Given the description of an element on the screen output the (x, y) to click on. 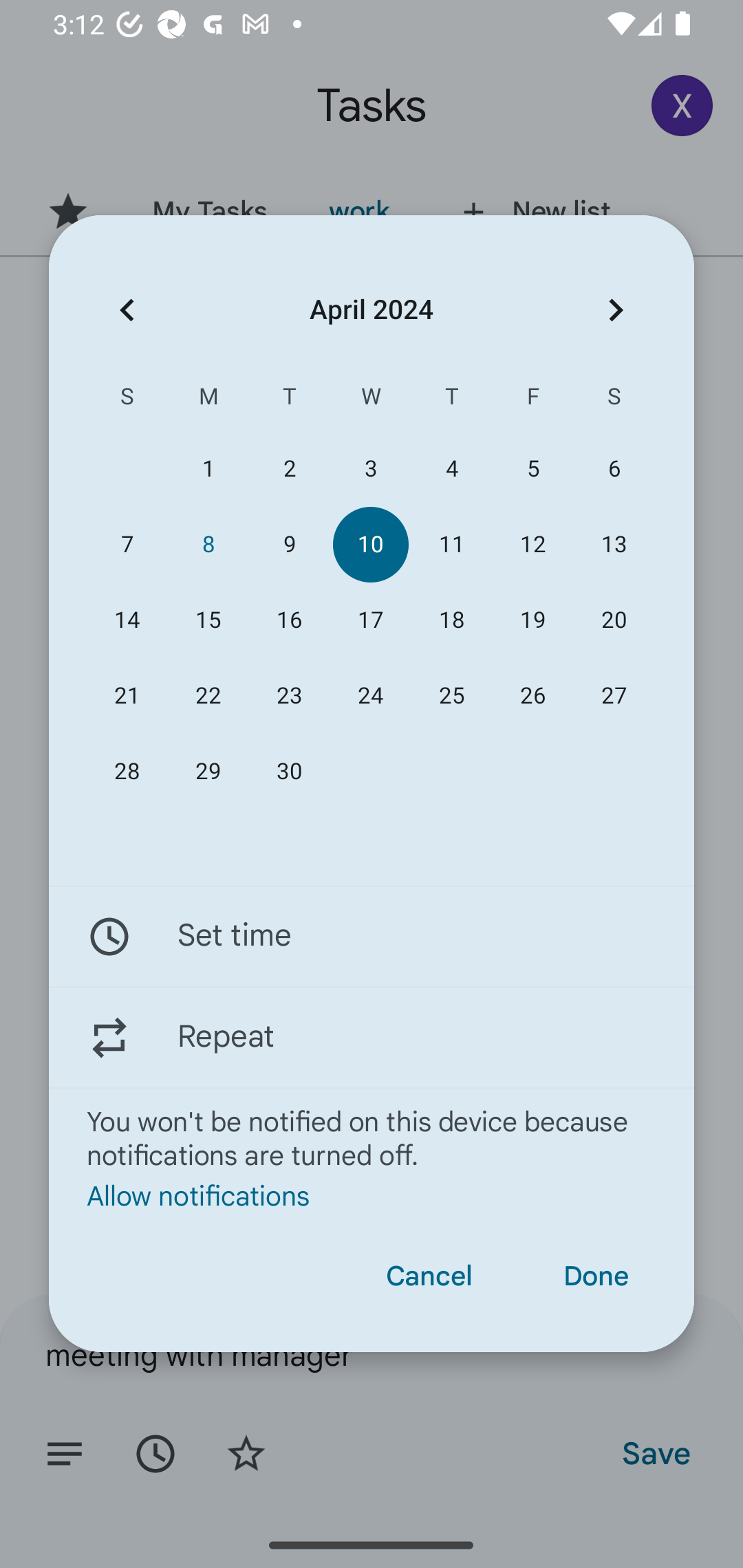
Previous month (126, 309)
Next month (615, 309)
1 01 April 2024 (207, 468)
2 02 April 2024 (288, 468)
3 03 April 2024 (370, 468)
4 04 April 2024 (451, 468)
5 05 April 2024 (532, 468)
6 06 April 2024 (613, 468)
7 07 April 2024 (126, 543)
8 08 April 2024 (207, 543)
9 09 April 2024 (288, 543)
10 10 April 2024 (370, 543)
11 11 April 2024 (451, 543)
12 12 April 2024 (532, 543)
13 13 April 2024 (613, 543)
14 14 April 2024 (126, 619)
15 15 April 2024 (207, 619)
16 16 April 2024 (288, 619)
17 17 April 2024 (370, 619)
18 18 April 2024 (451, 619)
19 19 April 2024 (532, 619)
20 20 April 2024 (613, 619)
21 21 April 2024 (126, 695)
22 22 April 2024 (207, 695)
23 23 April 2024 (288, 695)
24 24 April 2024 (370, 695)
25 25 April 2024 (451, 695)
26 26 April 2024 (532, 695)
27 27 April 2024 (613, 695)
28 28 April 2024 (126, 771)
29 29 April 2024 (207, 771)
30 30 April 2024 (288, 771)
Set time (371, 936)
Repeat (371, 1036)
Allow notifications (371, 1195)
Cancel (429, 1275)
Done (595, 1275)
